Given the description of an element on the screen output the (x, y) to click on. 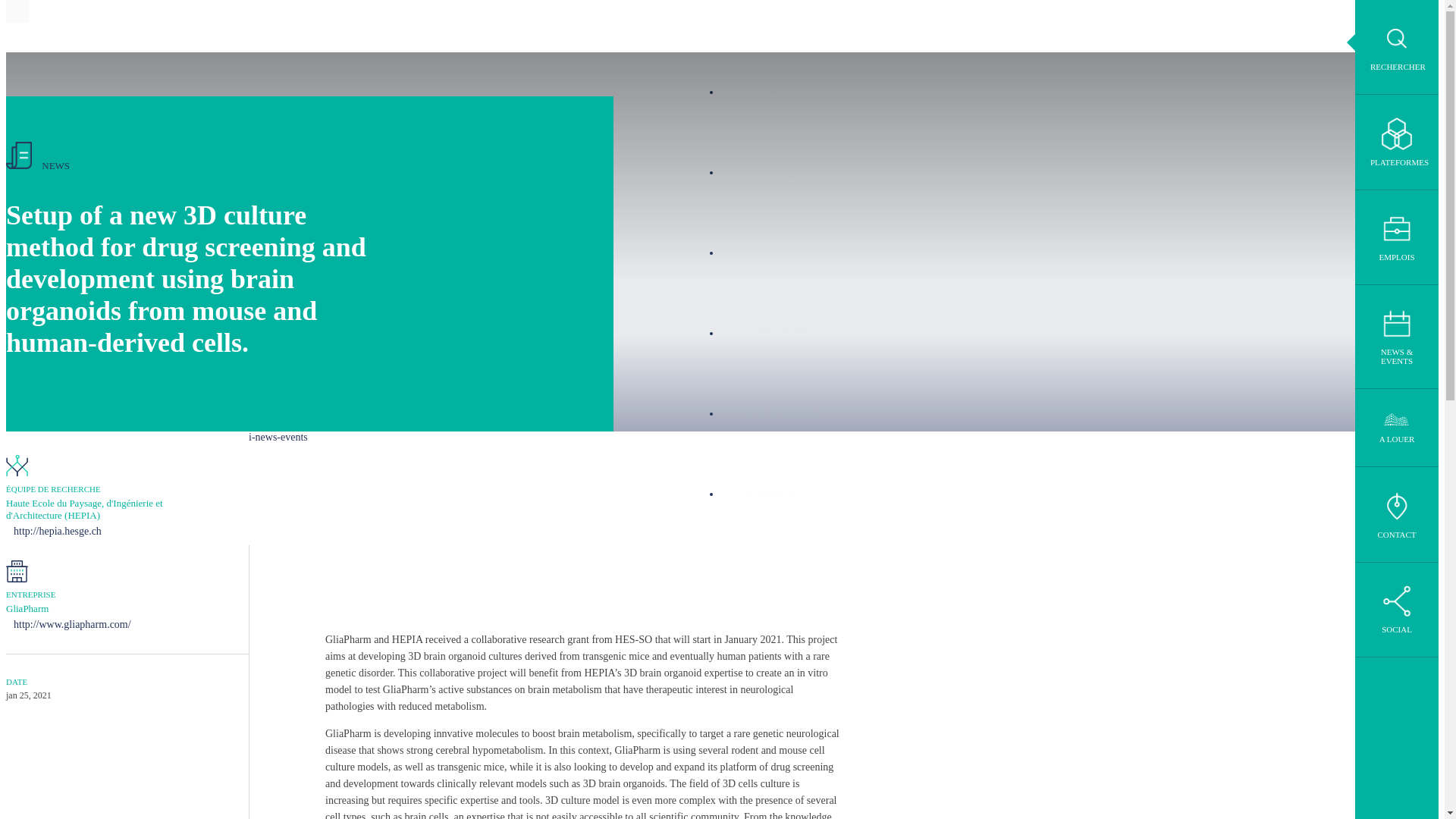
PARTENAIRES (780, 413)
GliaPharm (26, 608)
GliaPharm (26, 608)
TRANSLATION (781, 252)
RECHERCHE (776, 92)
ENTREPRISES (779, 333)
Accueil (53, 26)
Toggle navigation (17, 11)
INNOVATION (777, 172)
